Given the description of an element on the screen output the (x, y) to click on. 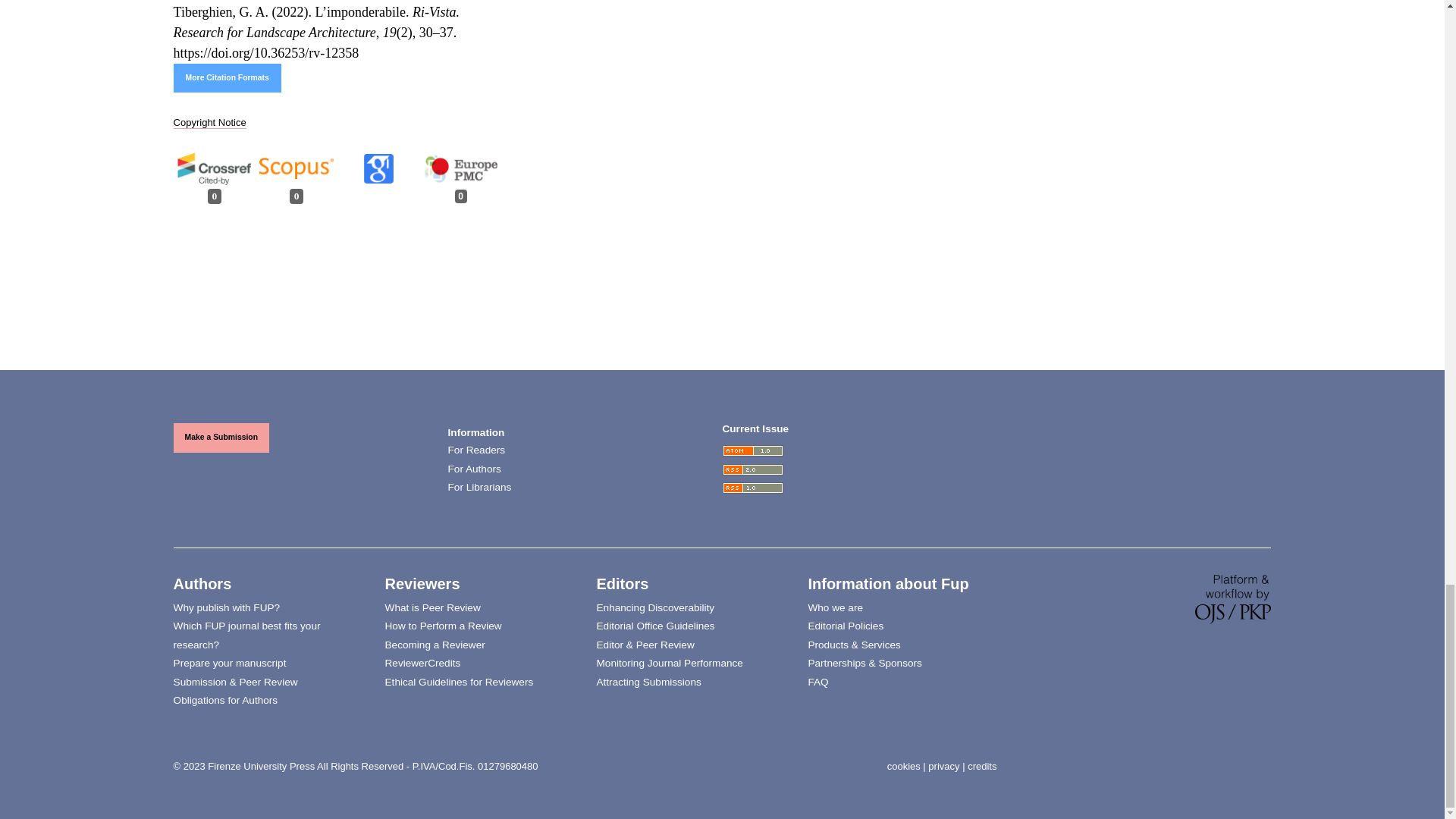
More Citation Formats (227, 77)
